Given the description of an element on the screen output the (x, y) to click on. 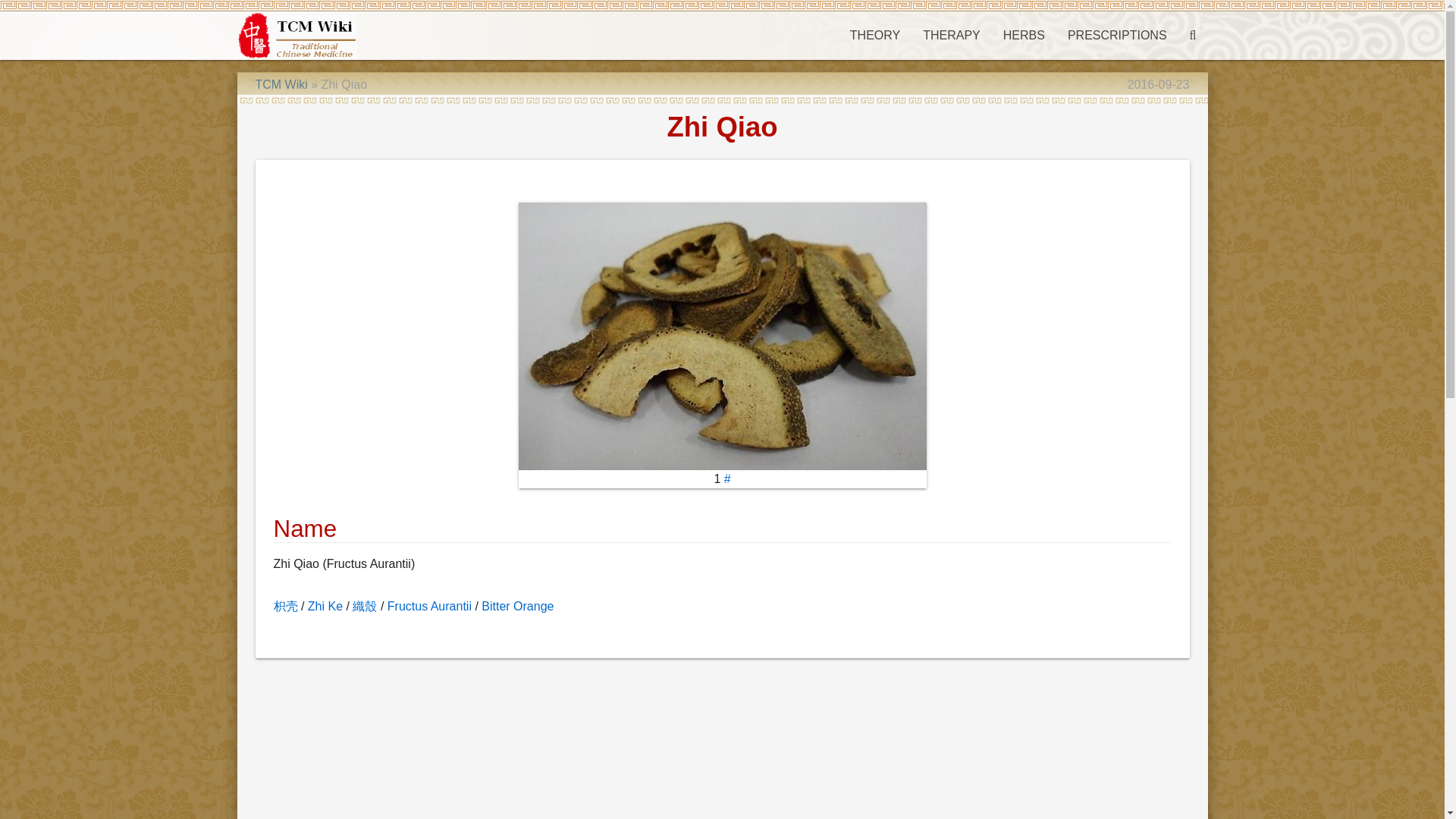
THEORY (874, 35)
Fructus Aurantii (429, 605)
Zhi Ke (324, 605)
THERAPY (951, 35)
TCM Wiki (280, 83)
PRESCRIPTIONS (1117, 35)
HERBS (1024, 35)
Bitter Orange (517, 605)
